Given the description of an element on the screen output the (x, y) to click on. 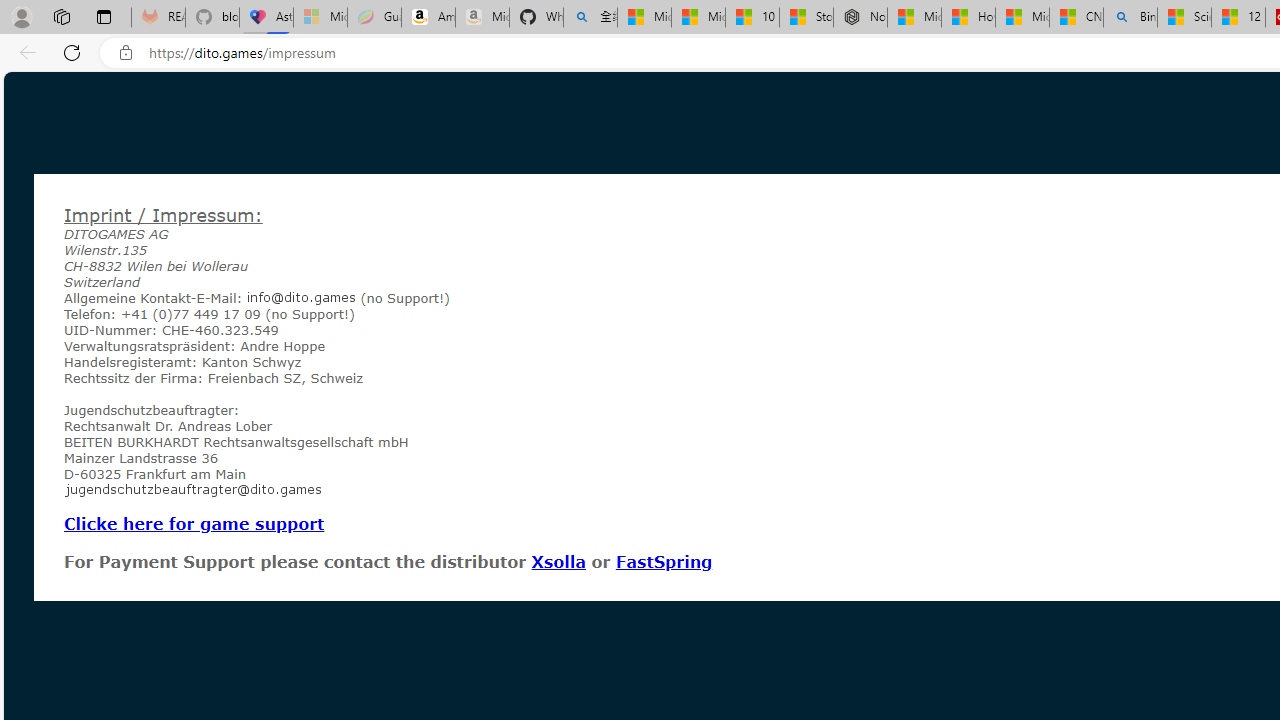
Xsolla (558, 561)
Clicke here for game support (194, 523)
12 Popular Science Lies that Must be Corrected (1238, 17)
Bing (1130, 17)
FastSpring (663, 561)
